Given the description of an element on the screen output the (x, y) to click on. 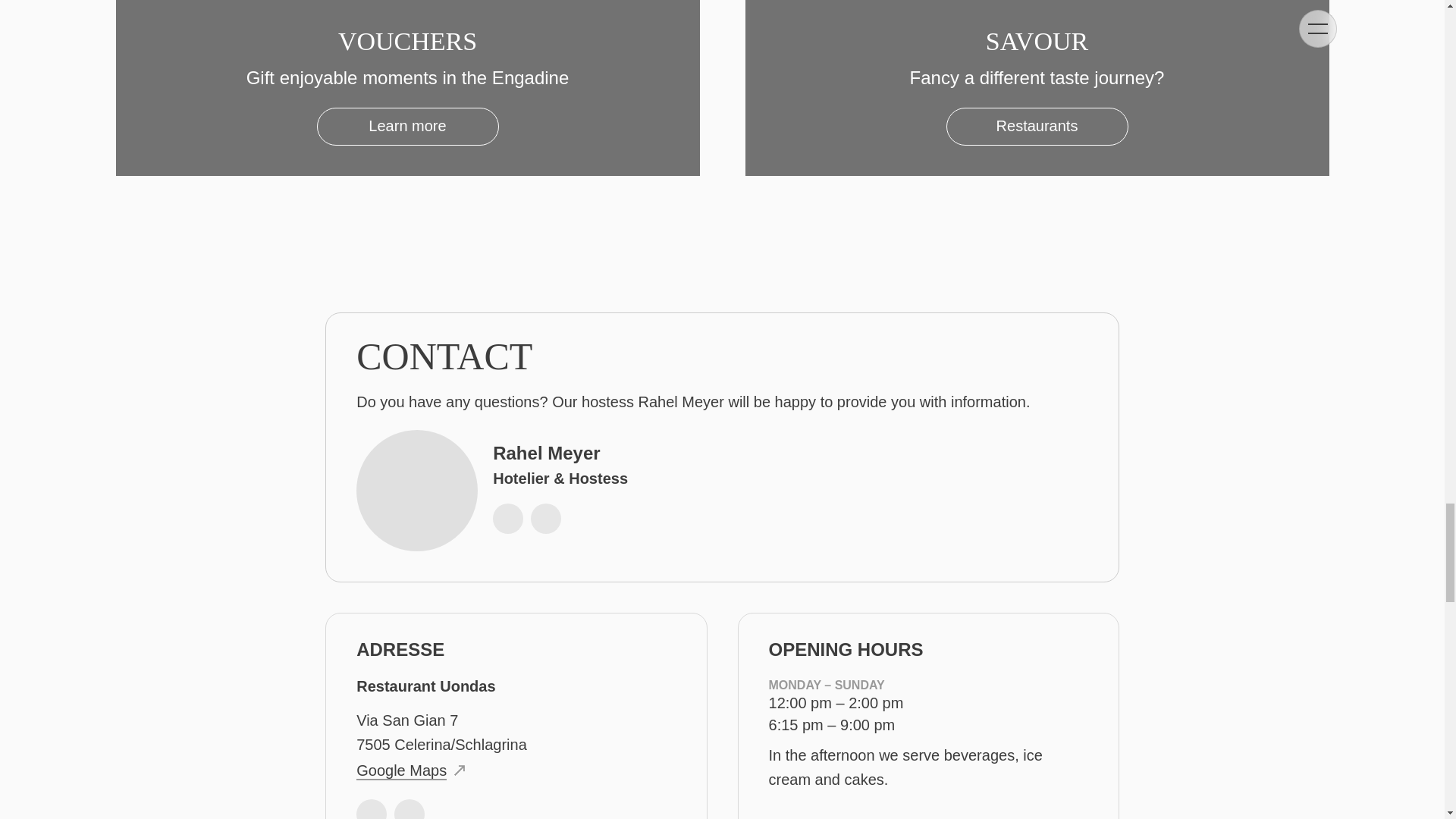
Google Maps (406, 88)
